Given the description of an element on the screen output the (x, y) to click on. 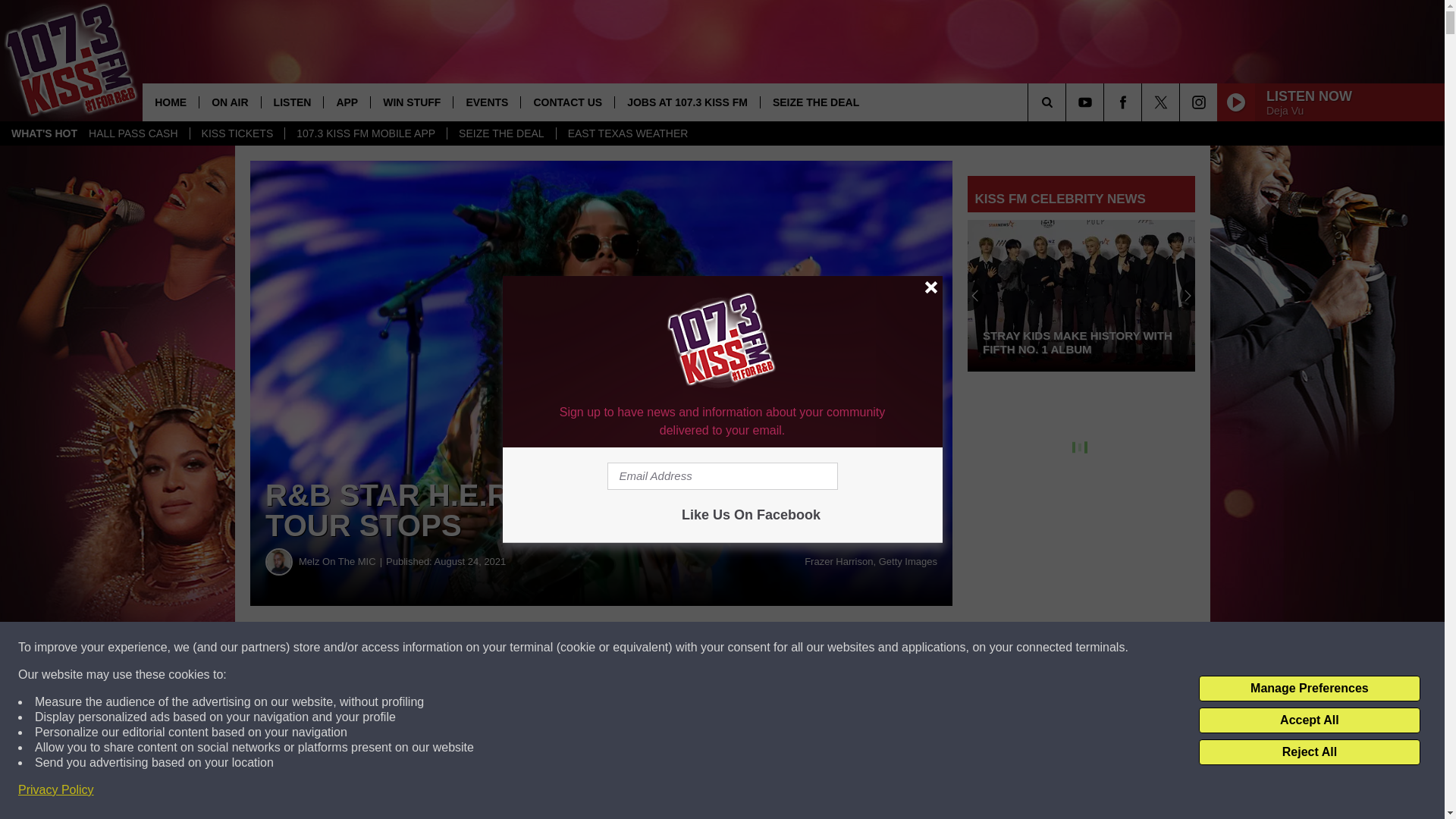
Share on Twitter (741, 647)
KISS TICKETS (237, 133)
Email Address (722, 475)
HOME (170, 102)
SEARCH (1068, 102)
WIN STUFF (410, 102)
Privacy Policy (55, 789)
Accept All (1309, 720)
Reject All (1309, 751)
Share on Facebook (460, 647)
HALL PASS CASH (133, 133)
107.3 KISS FM MOBILE APP (364, 133)
EVENTS (485, 102)
ON AIR (229, 102)
EAST TEXAS WEATHER (628, 133)
